Given the description of an element on the screen output the (x, y) to click on. 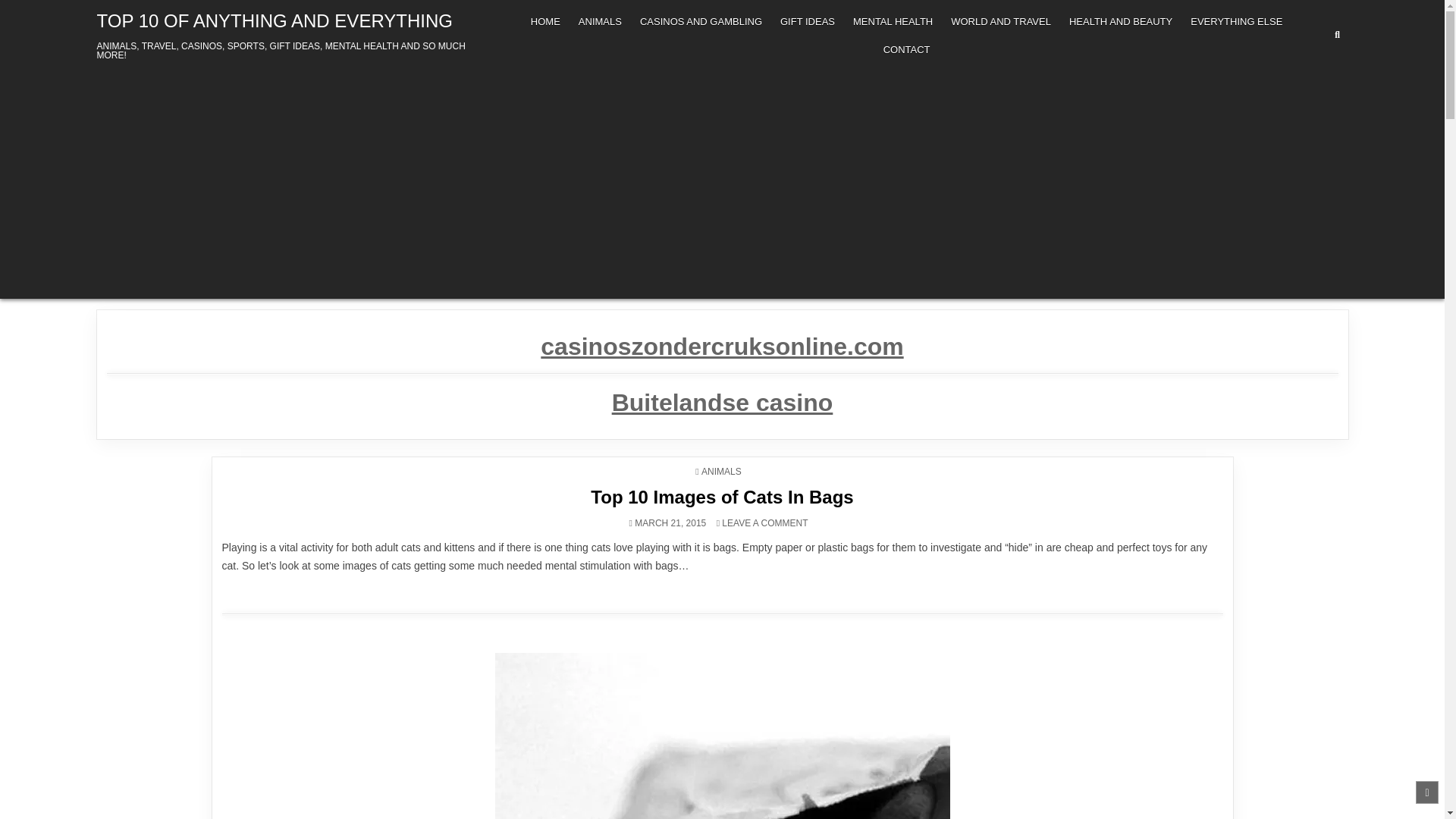
Buitelandse casino (721, 402)
SCROLL TO TOP (1426, 792)
Top 10 Images of Cats In Bags (722, 496)
CASINOS AND GAMBLING (700, 21)
ANIMALS (599, 21)
HEALTH AND BEAUTY (1119, 21)
CONTACT (907, 49)
HOME (545, 21)
EVERYTHING ELSE (765, 522)
casinoszondercruksonline.com (1235, 21)
GIFT IDEAS (721, 346)
MENTAL HEALTH (807, 21)
TOP 10 OF ANYTHING AND EVERYTHING (893, 21)
Advertisement (274, 20)
